Given the description of an element on the screen output the (x, y) to click on. 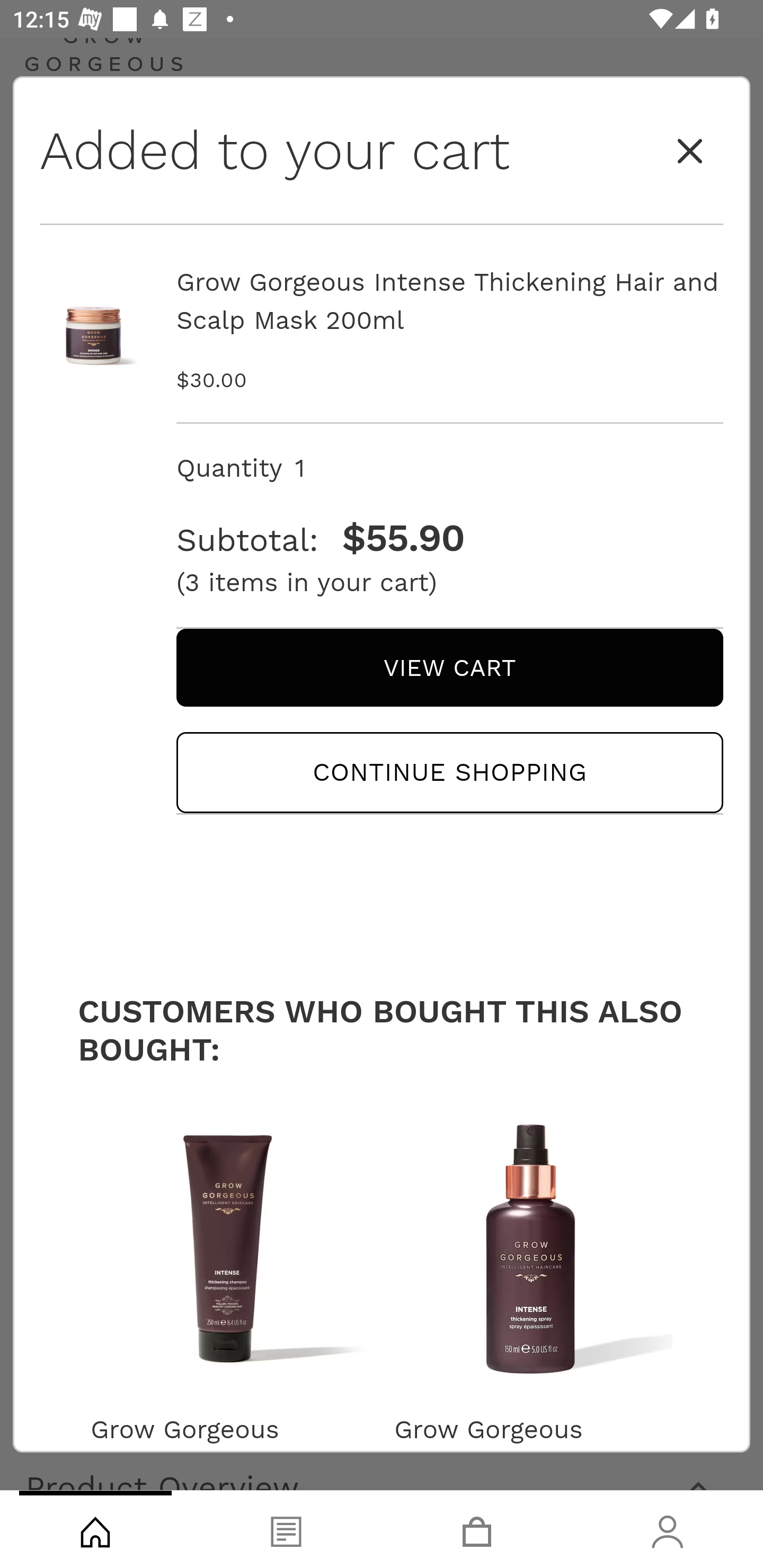
Close (689, 151)
VIEW CART (449, 667)
CONTINUE SHOPPING (449, 771)
Grow Gorgeous Intense Thickening Shampoo 250ml (229, 1444)
Grow Gorgeous Intense Thickening Spray 60ml (533, 1444)
Shop, tab, 1 of 4 (95, 1529)
Blog, tab, 2 of 4 (285, 1529)
Basket, tab, 3 of 4 (476, 1529)
Account, tab, 4 of 4 (667, 1529)
